Given the description of an element on the screen output the (x, y) to click on. 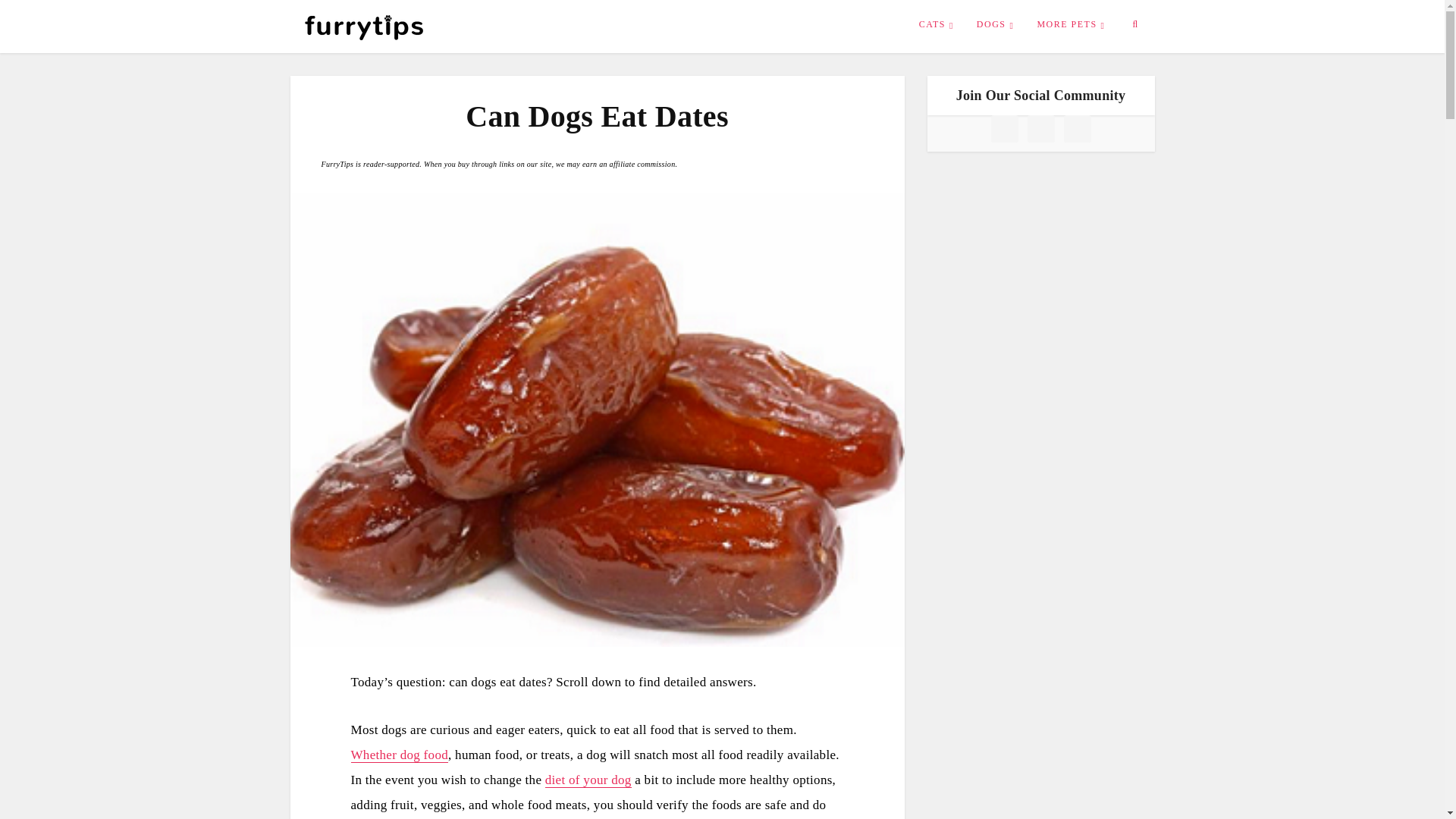
MORE PETS (1070, 24)
CATS (936, 24)
DOGS (995, 24)
